Given the description of an element on the screen output the (x, y) to click on. 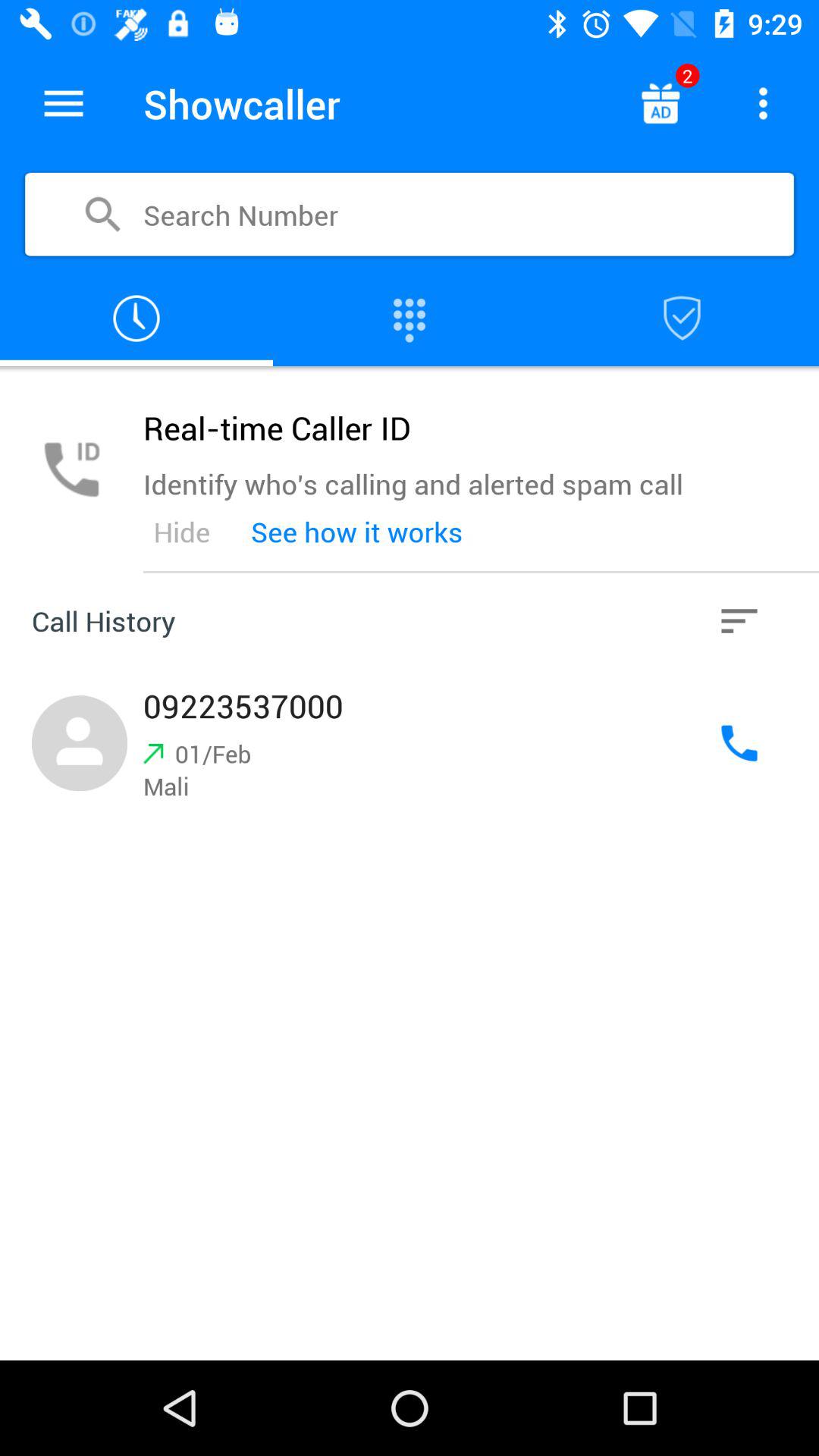
call option (739, 743)
